Given the description of an element on the screen output the (x, y) to click on. 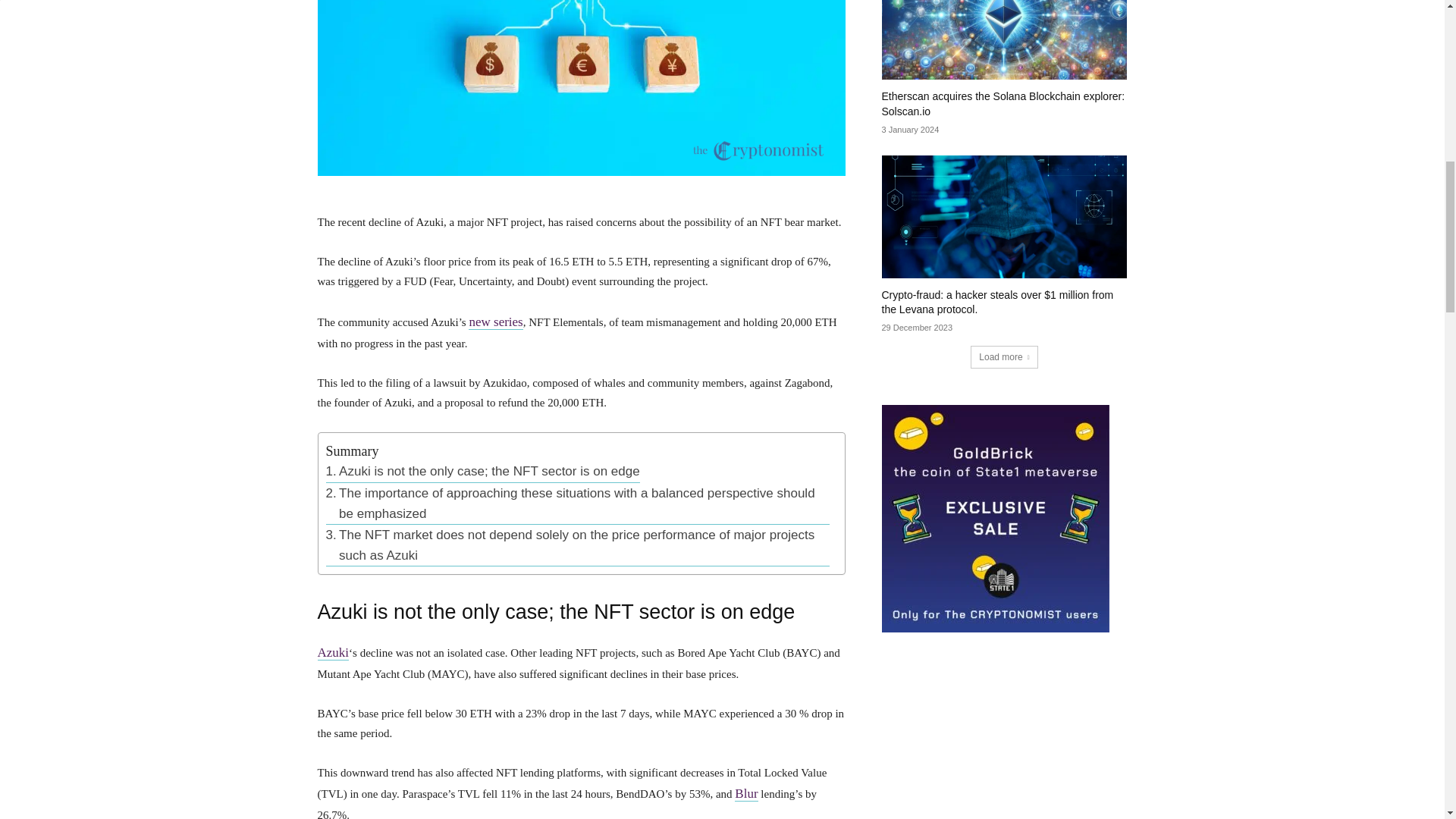
azuki nft (580, 88)
Azuki is not the only case; the NFT sector is on edge (483, 471)
